Given the description of an element on the screen output the (x, y) to click on. 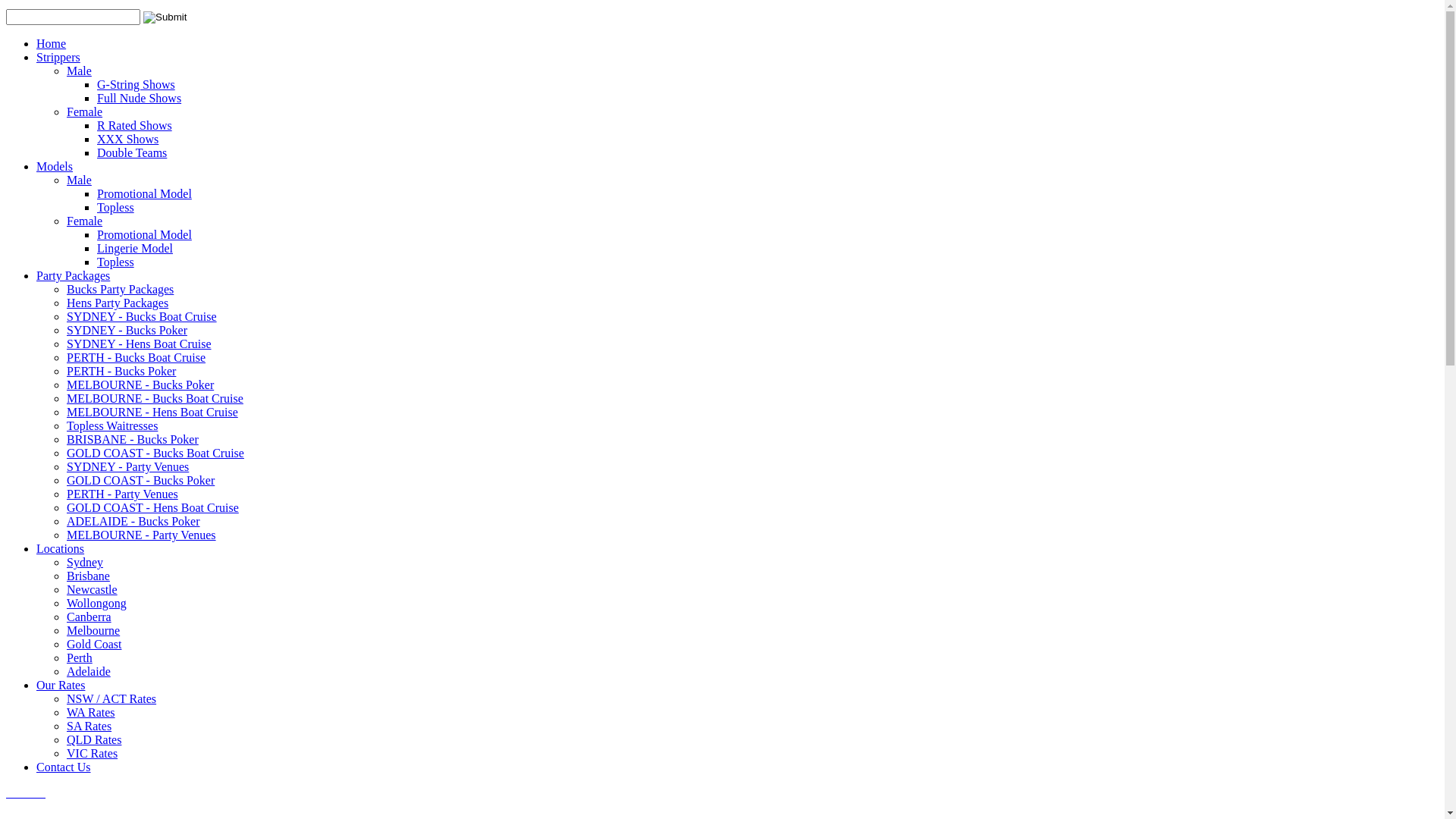
MELBOURNE - Bucks Boat Cruise Element type: text (154, 398)
R Rated Shows Element type: text (134, 125)
Brisbane Element type: text (87, 575)
Party Packages Element type: text (72, 275)
Canberra Element type: text (88, 616)
Sydney Element type: text (84, 561)
Contact Us Element type: text (63, 766)
G-String Shows Element type: text (136, 84)
Locations Element type: text (60, 548)
Adelaide Element type: text (88, 671)
MELBOURNE - Hens Boat Cruise Element type: text (152, 411)
QLD Rates Element type: text (93, 739)
Lingerie Model Element type: text (134, 247)
MELBOURNE - Party Venues Element type: text (141, 534)
Wollongong Element type: text (96, 602)
Melbourne Element type: text (92, 630)
Perth Element type: text (79, 657)
SYDNEY - Bucks Boat Cruise Element type: text (141, 316)
Home Element type: text (50, 43)
Topless Element type: text (115, 206)
SYDNEY - Party Venues Element type: text (127, 466)
Newcastle Element type: text (91, 589)
Bucks Party Packages Element type: text (119, 288)
Double Teams Element type: text (131, 152)
Female Element type: text (84, 220)
              Element type: text (25, 792)
SA Rates Element type: text (88, 725)
VIC Rates Element type: text (91, 752)
SYDNEY - Bucks Poker Element type: text (126, 329)
PERTH - Bucks Poker Element type: text (120, 370)
GOLD COAST - Hens Boat Cruise Element type: text (152, 507)
Promotional Model Element type: text (144, 193)
BRISBANE - Bucks Poker Element type: text (132, 439)
Our Rates Element type: text (60, 684)
MELBOURNE - Bucks Poker Element type: text (139, 384)
Strippers Element type: text (58, 56)
Full Nude Shows Element type: text (139, 97)
Topless Waitresses Element type: text (111, 425)
Male Element type: text (78, 70)
Topless Element type: text (115, 261)
XXX Shows Element type: text (127, 138)
ADELAIDE - Bucks Poker Element type: text (133, 520)
WA Rates Element type: text (90, 712)
Gold Coast Element type: text (93, 643)
Promotional Model Element type: text (144, 234)
SYDNEY - Hens Boat Cruise Element type: text (138, 343)
PERTH - Party Venues Element type: text (122, 493)
PERTH - Bucks Boat Cruise Element type: text (135, 357)
GOLD COAST - Bucks Poker Element type: text (140, 479)
Models Element type: text (54, 166)
Male Element type: text (78, 179)
GOLD COAST - Bucks Boat Cruise Element type: text (155, 452)
NSW / ACT Rates Element type: text (111, 698)
Hens Party Packages Element type: text (117, 302)
Female Element type: text (84, 111)
